Given the description of an element on the screen output the (x, y) to click on. 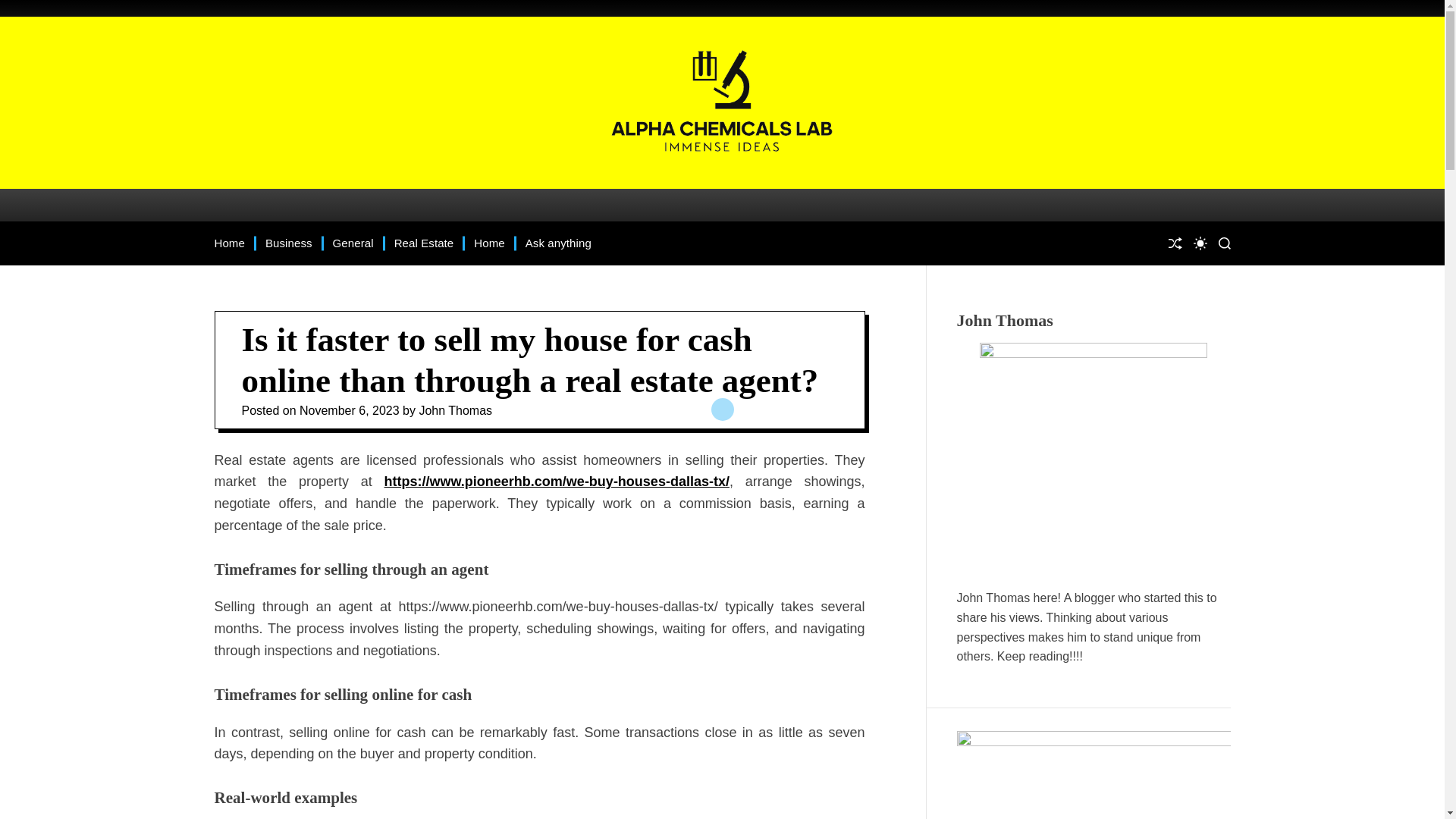
Ask anything (558, 243)
General (353, 243)
SEARCH (1223, 243)
Home (488, 243)
Home (229, 243)
SWITCH COLOR MODE (1200, 243)
John Thomas (455, 410)
SHUFFLE (1173, 243)
Business (288, 243)
Real Estate (424, 243)
